Given the description of an element on the screen output the (x, y) to click on. 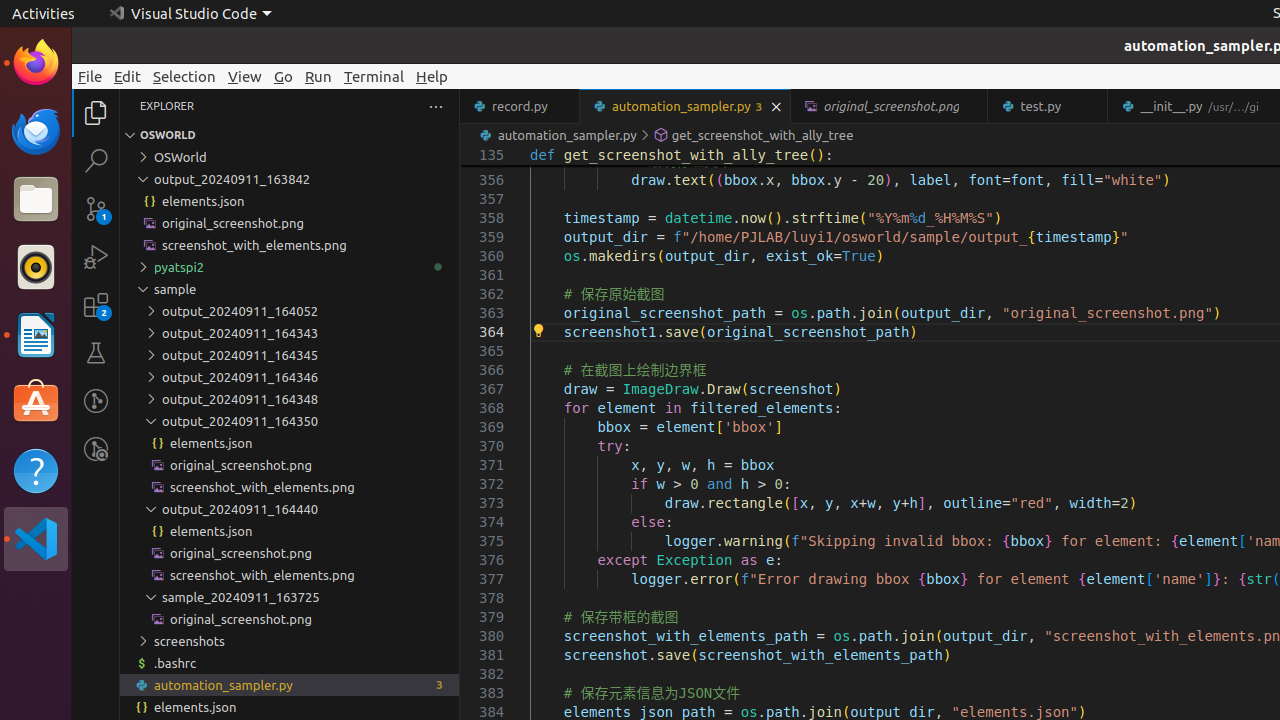
View Element type: push-button (245, 76)
